Given the description of an element on the screen output the (x, y) to click on. 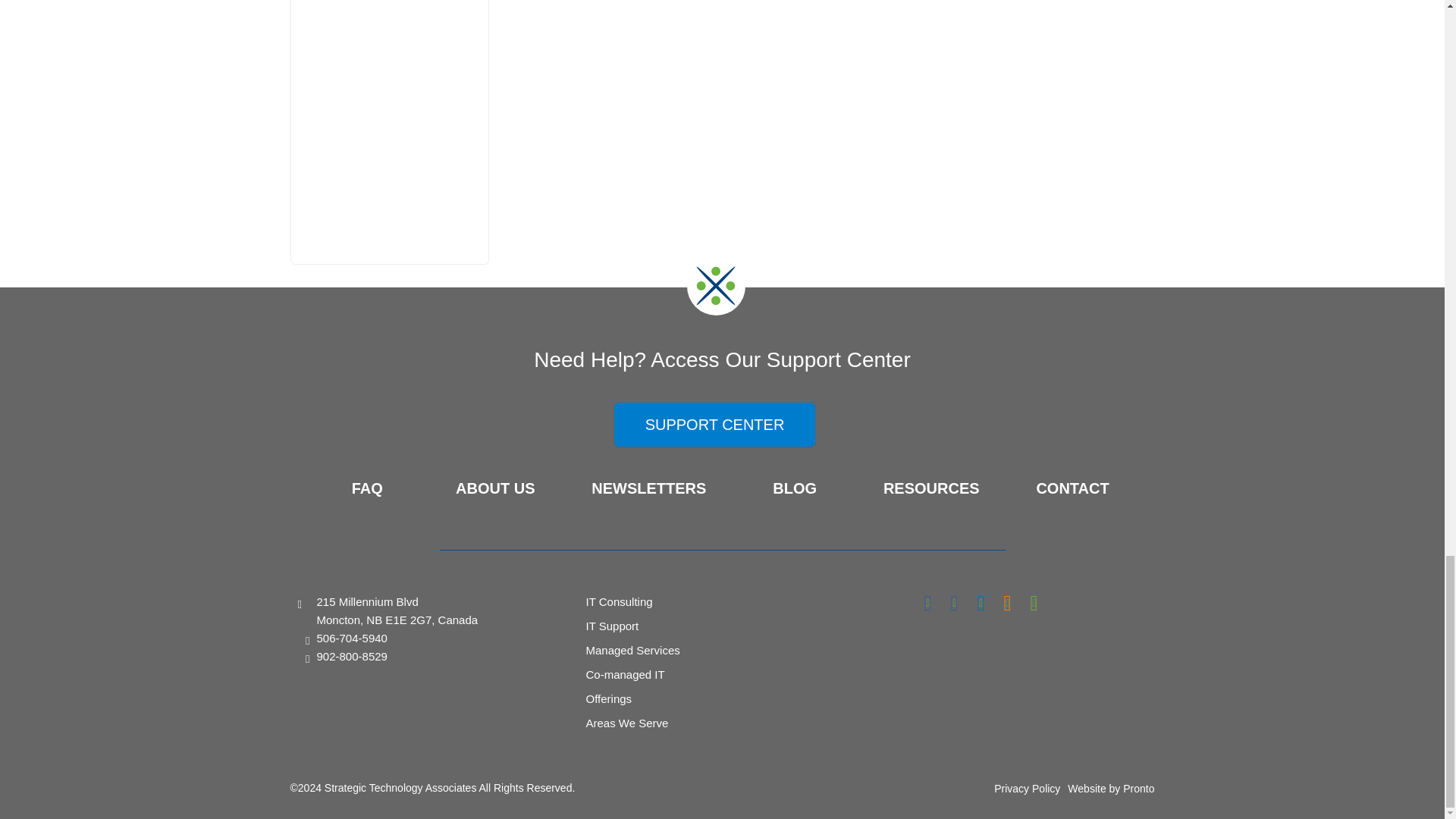
ABOUT US (494, 487)
FAQ (367, 487)
CONTACT (1071, 487)
BLOG (794, 487)
SUPPORT CENTER (714, 424)
IT Consulting (618, 601)
RESOURCES (931, 487)
NEWSLETTERS (648, 487)
